Given the description of an element on the screen output the (x, y) to click on. 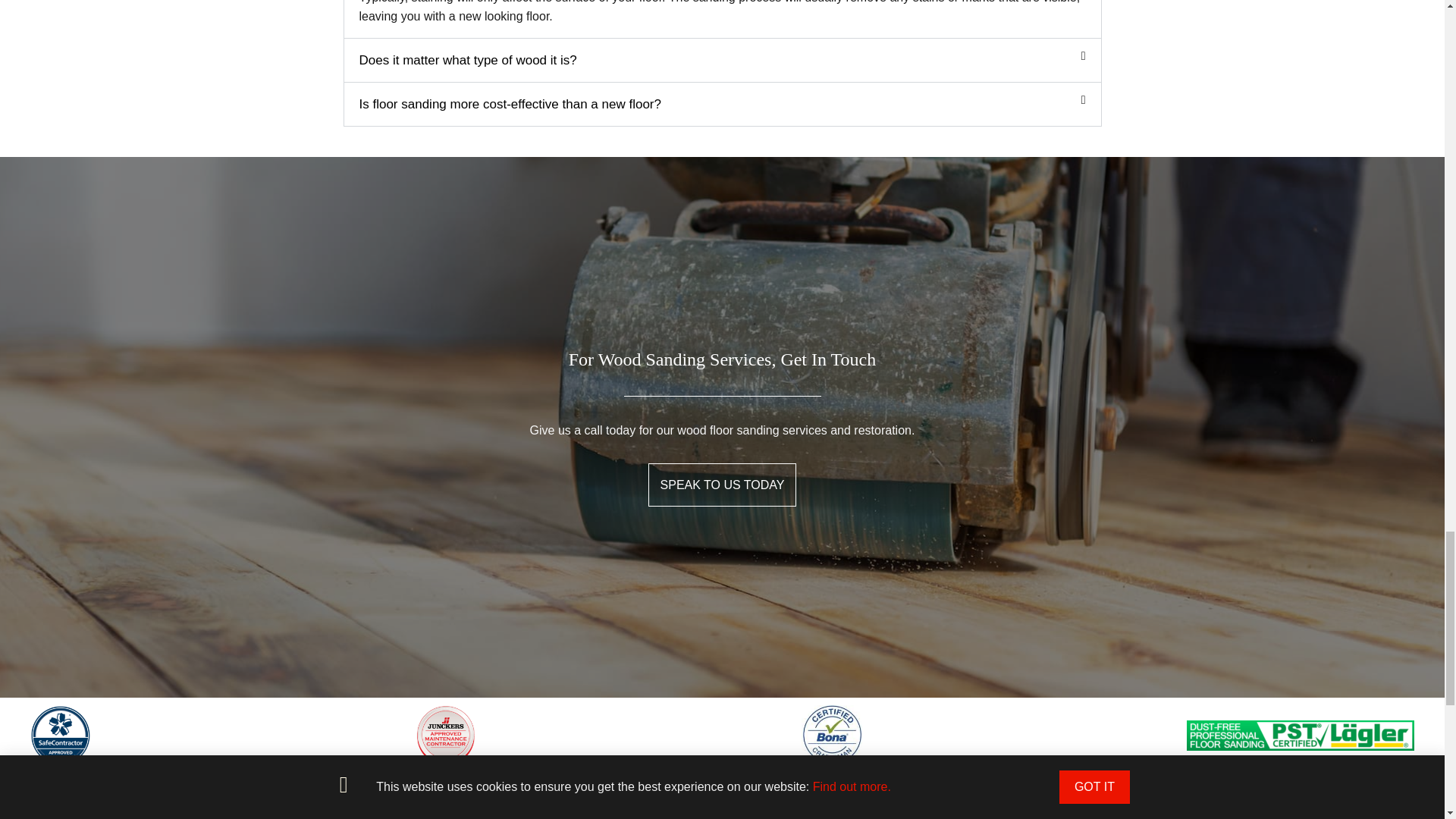
SPEAK TO US TODAY (721, 484)
Does it matter what type of wood it is? (467, 60)
Is floor sanding more cost-effective than a new floor? (510, 104)
